Given the description of an element on the screen output the (x, y) to click on. 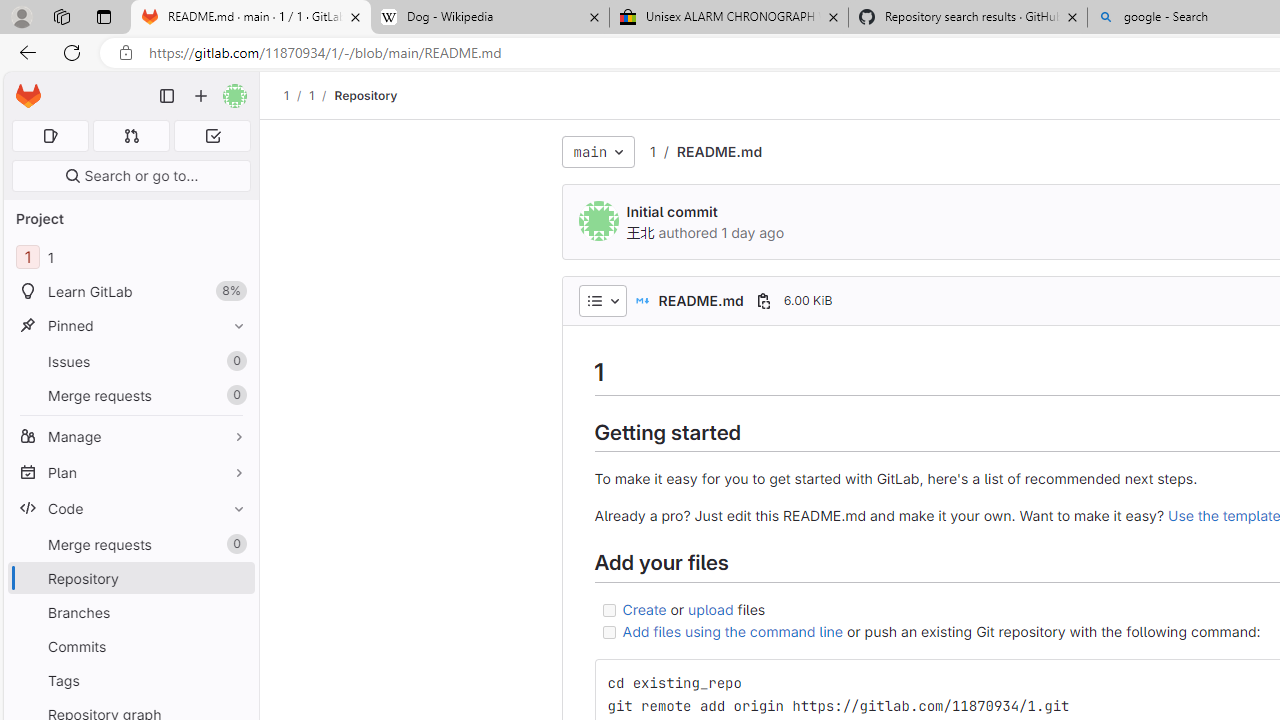
Pin Tags (234, 680)
Unpin Merge requests (234, 544)
Add files using the command line (732, 631)
